Given the description of an element on the screen output the (x, y) to click on. 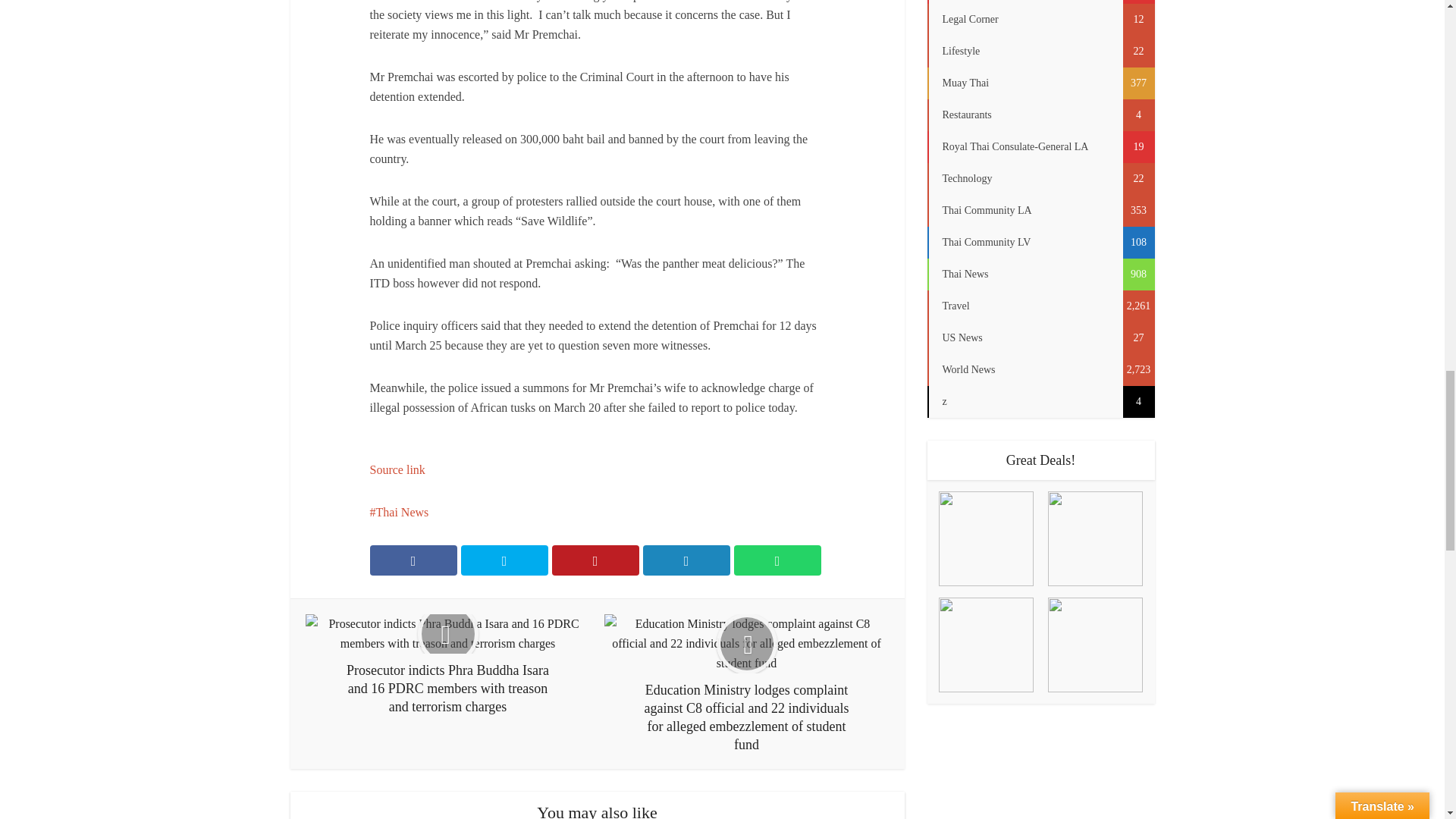
Source link (397, 469)
Thai News (399, 512)
